Given the description of an element on the screen output the (x, y) to click on. 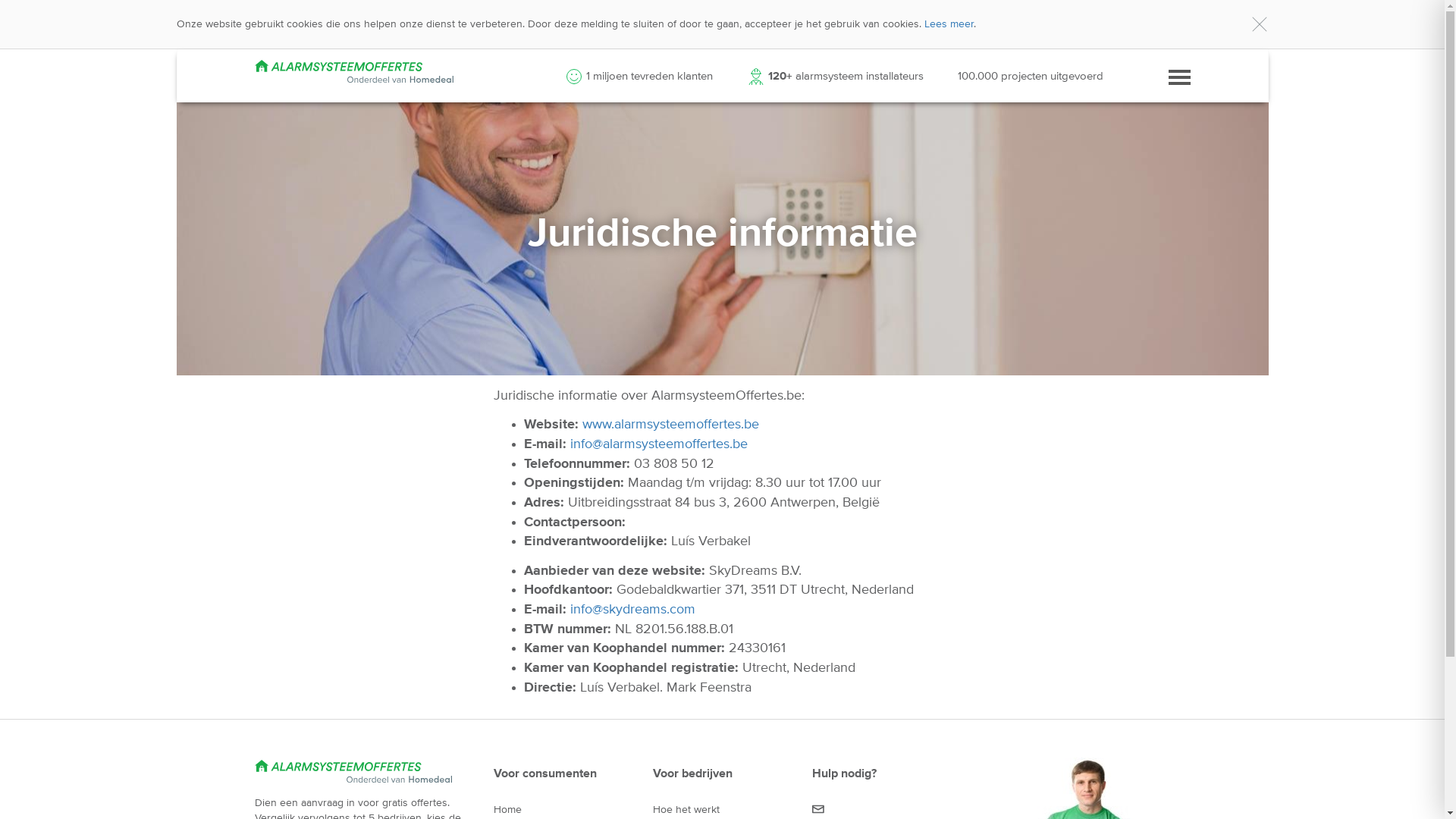
Home Element type: text (506, 809)
info@skydreams.com Element type: text (632, 609)
www.alarmsysteemoffertes.be Element type: text (670, 424)
Lees meer Element type: text (947, 23)
info@alarmsysteemoffertes.be Element type: text (658, 444)
Hoe het werkt Element type: text (685, 809)
Sluiten Element type: hover (1258, 24)
